Given the description of an element on the screen output the (x, y) to click on. 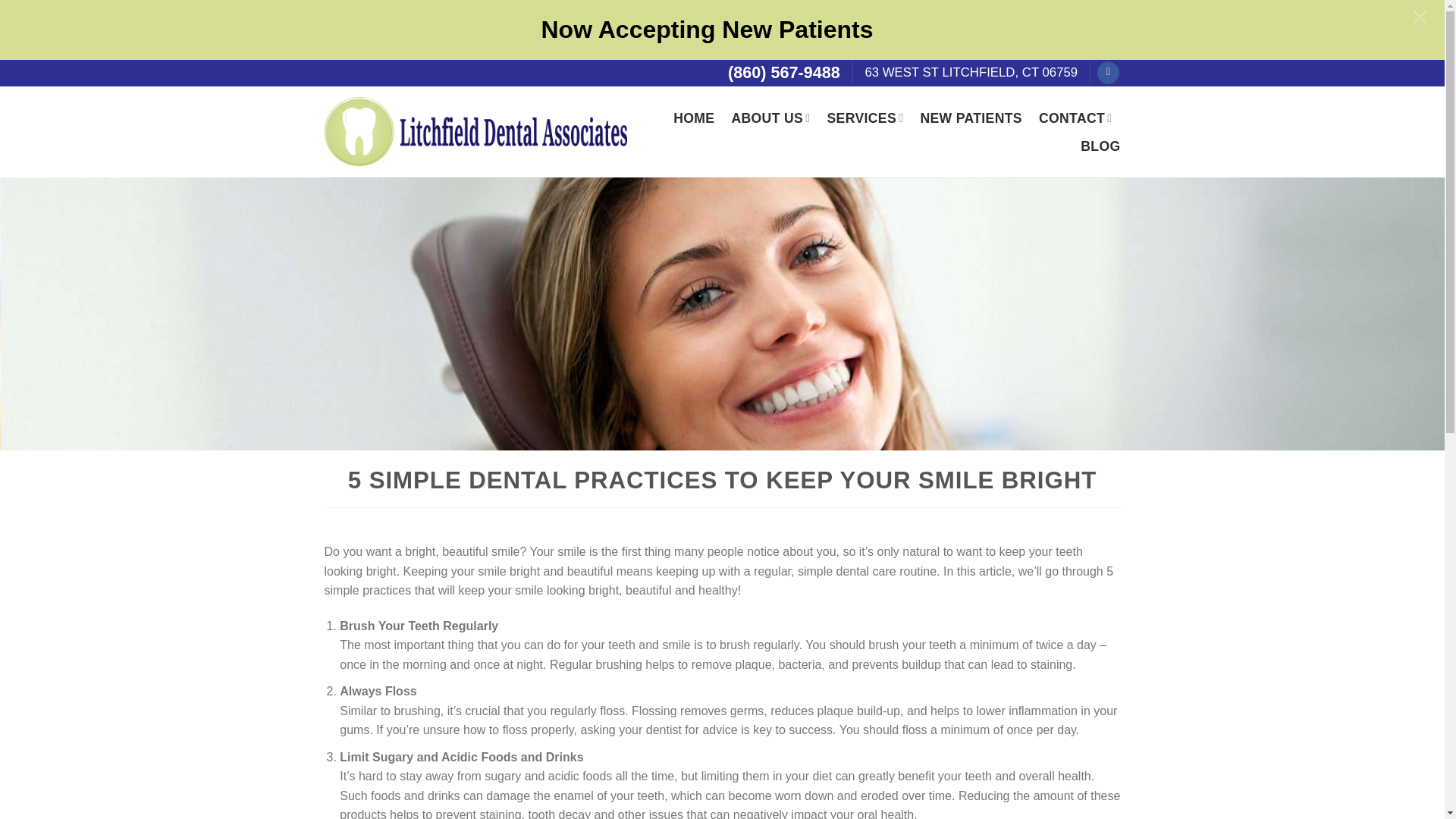
63 WEST ST LITCHFIELD, CT 06759 (970, 72)
Litchfield Dental Associates - Litchfield, CT Dentist (475, 131)
ABOUT US (769, 117)
SERVICES (865, 117)
HOME (693, 117)
CONTACT (1075, 117)
Follow on Facebook (1108, 72)
NEW PATIENTS (971, 117)
BLOG (1099, 145)
